Given the description of an element on the screen output the (x, y) to click on. 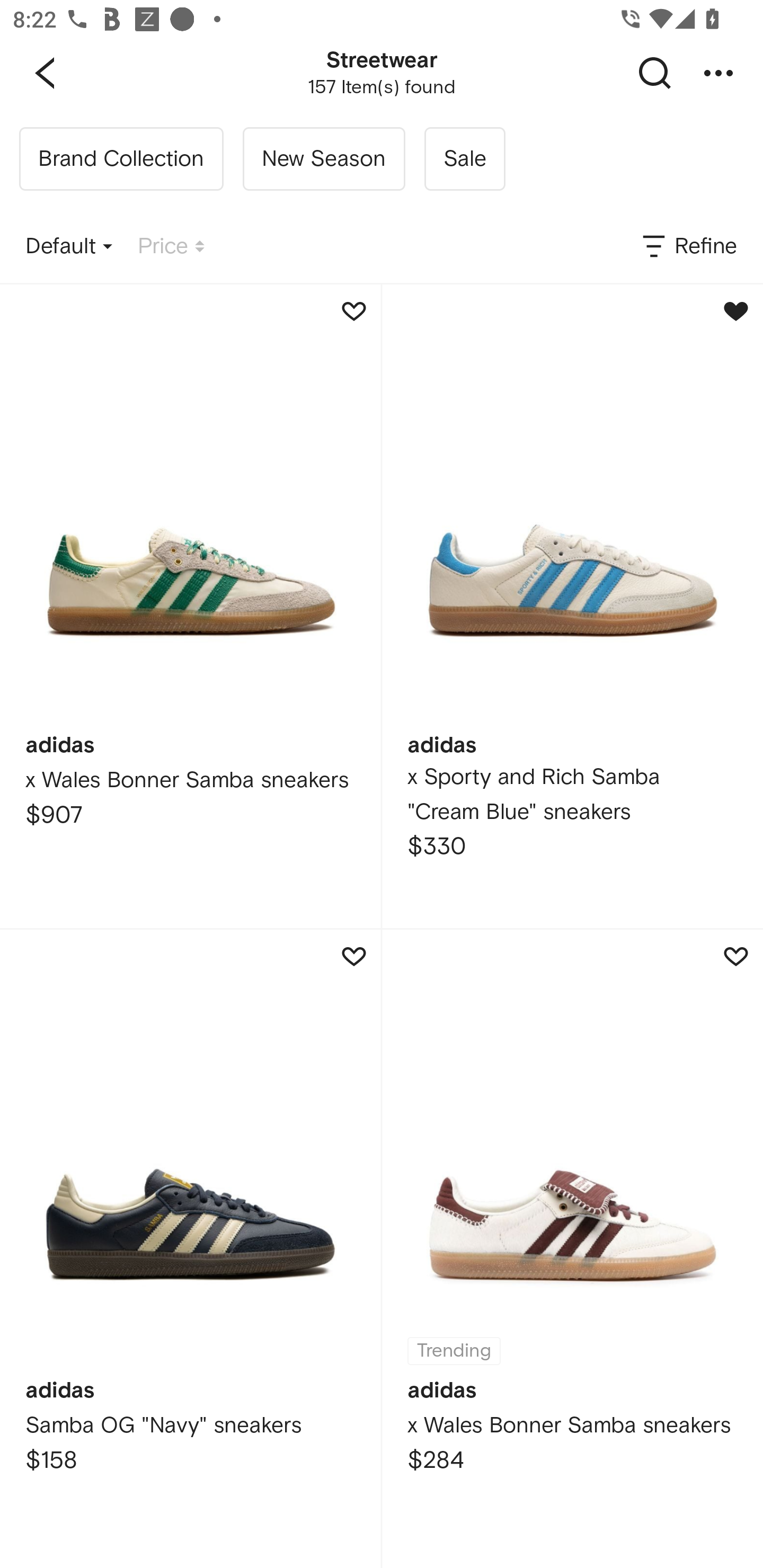
Brand Collection (121, 158)
New Season (323, 158)
Sale (464, 158)
Default (68, 246)
Price (171, 246)
Refine (688, 246)
adidas x Wales Bonner Samba sneakers $907 (190, 605)
adidas Samba OG "Navy" sneakers $158 (190, 1248)
Trending adidas x Wales Bonner Samba sneakers $284 (572, 1248)
